Given the description of an element on the screen output the (x, y) to click on. 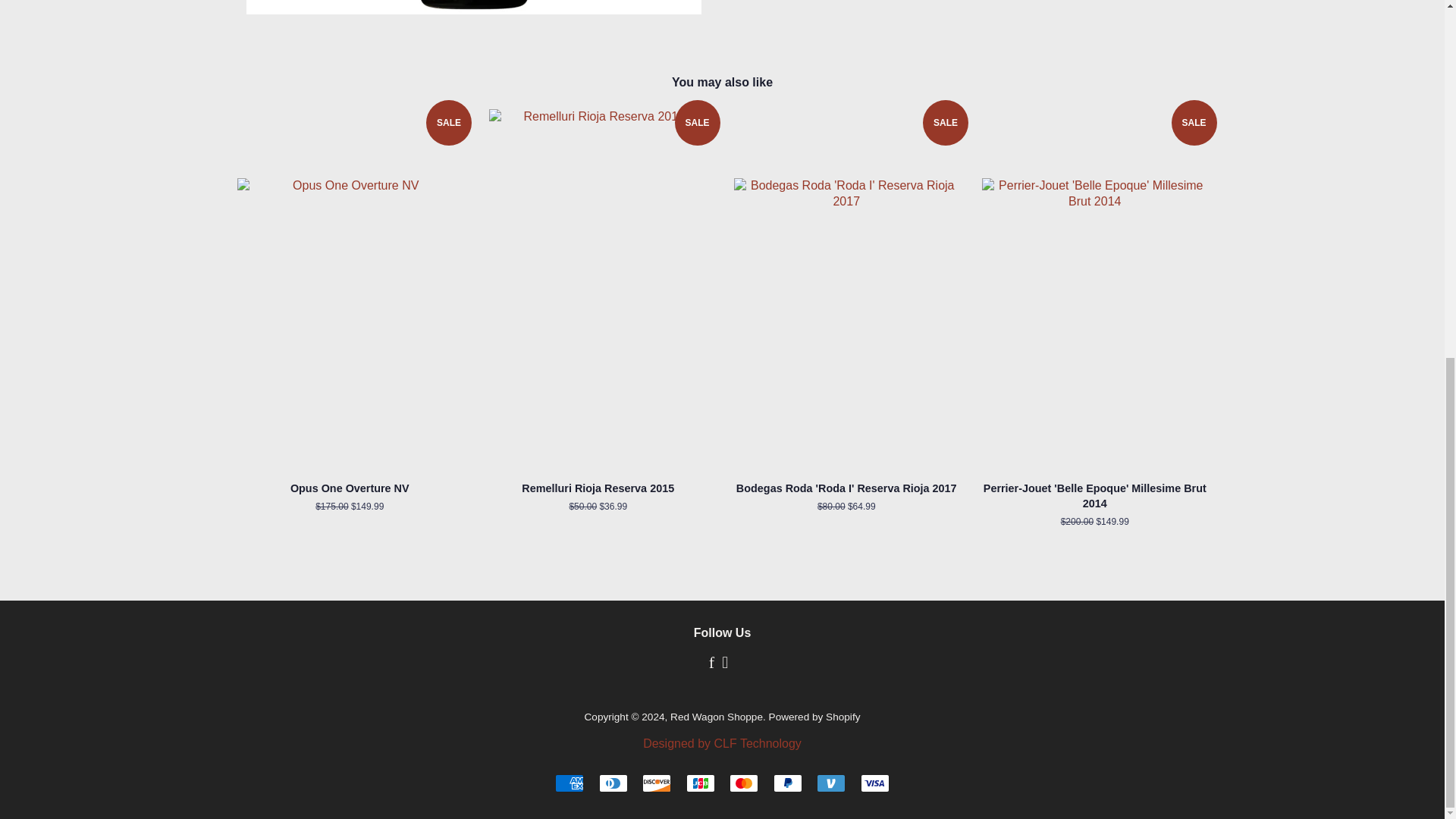
JCB (699, 782)
Visa (874, 782)
American Express (568, 782)
Discover (656, 782)
Diners Club (612, 782)
Venmo (830, 782)
PayPal (787, 782)
Mastercard (743, 782)
